Given the description of an element on the screen output the (x, y) to click on. 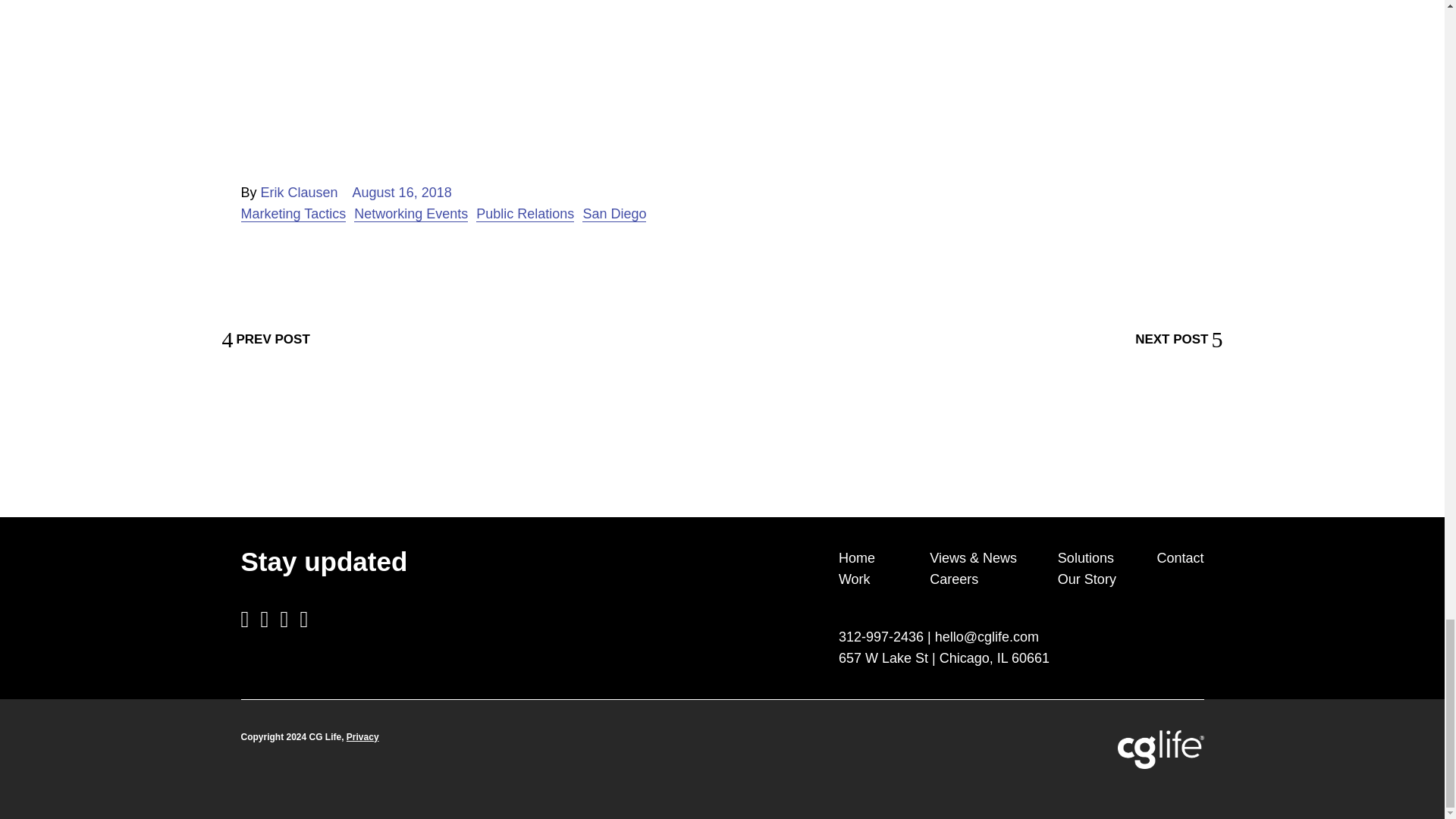
Solutions (1085, 557)
312-997-2436 (880, 636)
Contact (1180, 557)
Our Story (1087, 579)
Marketing Tactics (293, 213)
Erik Clausen (298, 192)
Careers (954, 579)
Networking Events (410, 213)
Posts by Erik Clausen (298, 192)
August 16, 2018 (401, 192)
